Given the description of an element on the screen output the (x, y) to click on. 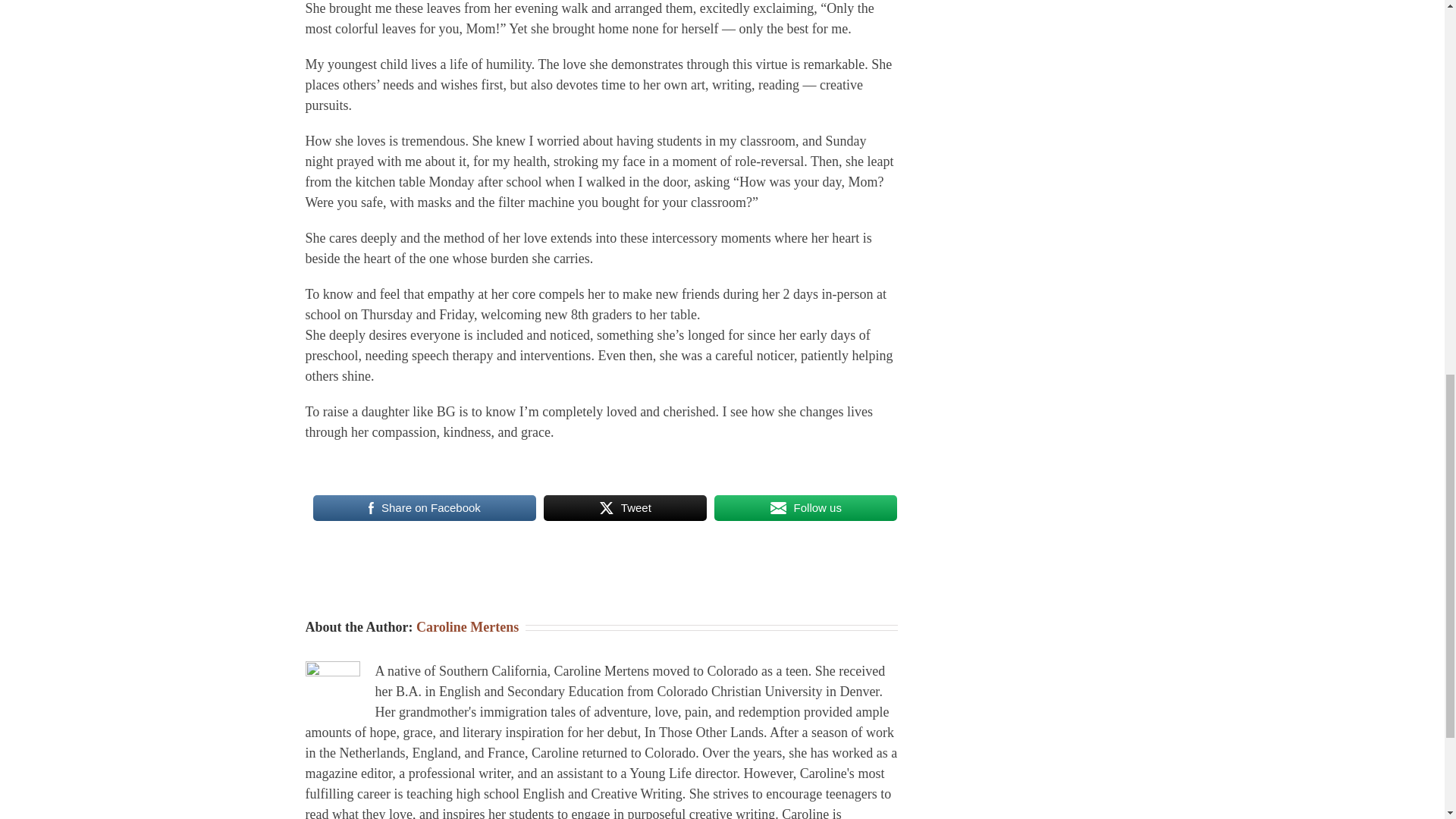
Posts by Caroline Mertens (467, 626)
Share on Facebook (424, 507)
Caroline Mertens (467, 626)
Tweet (624, 507)
Follow us (805, 507)
